Given the description of an element on the screen output the (x, y) to click on. 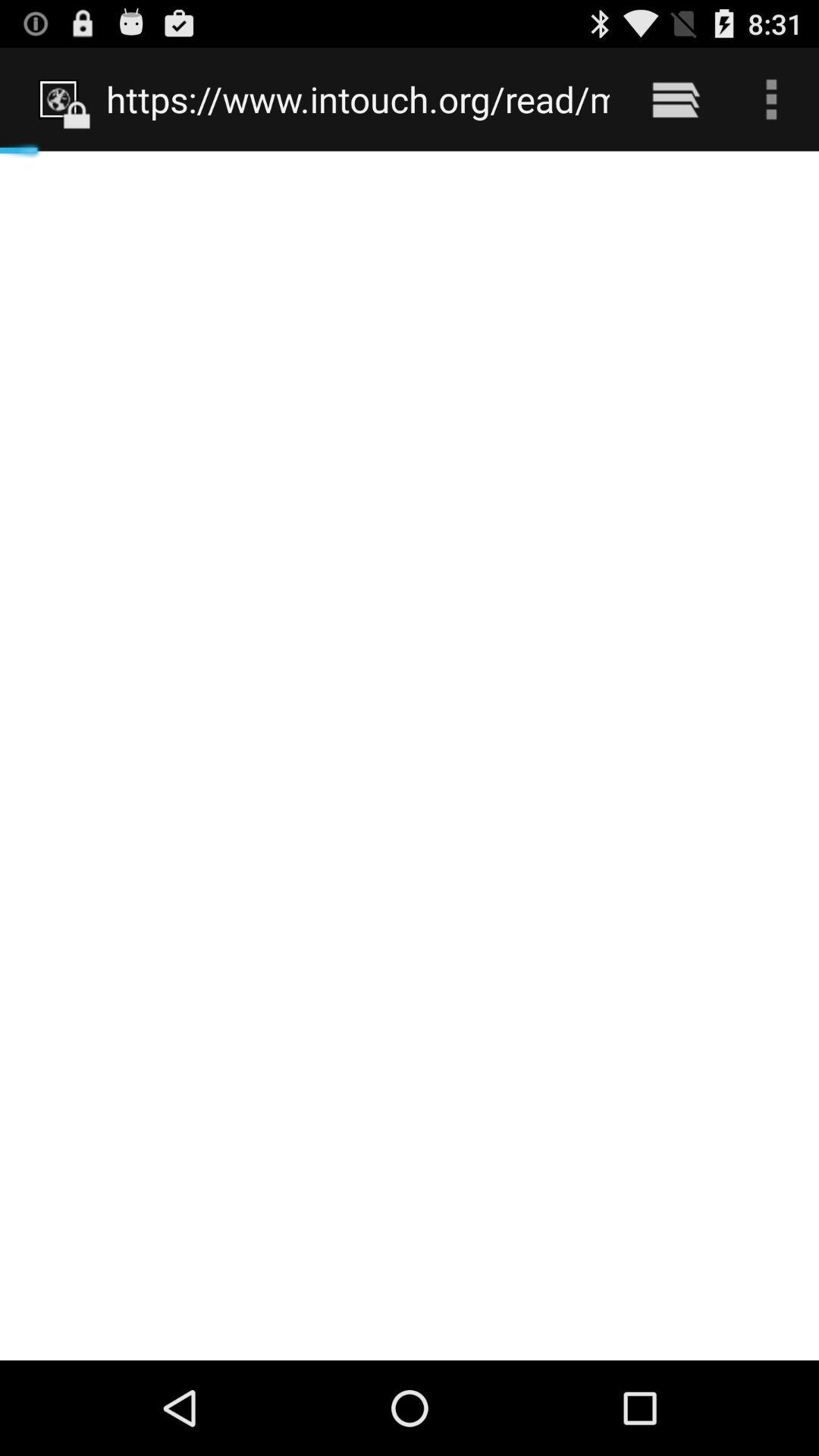
click https www intouch icon (357, 99)
